Given the description of an element on the screen output the (x, y) to click on. 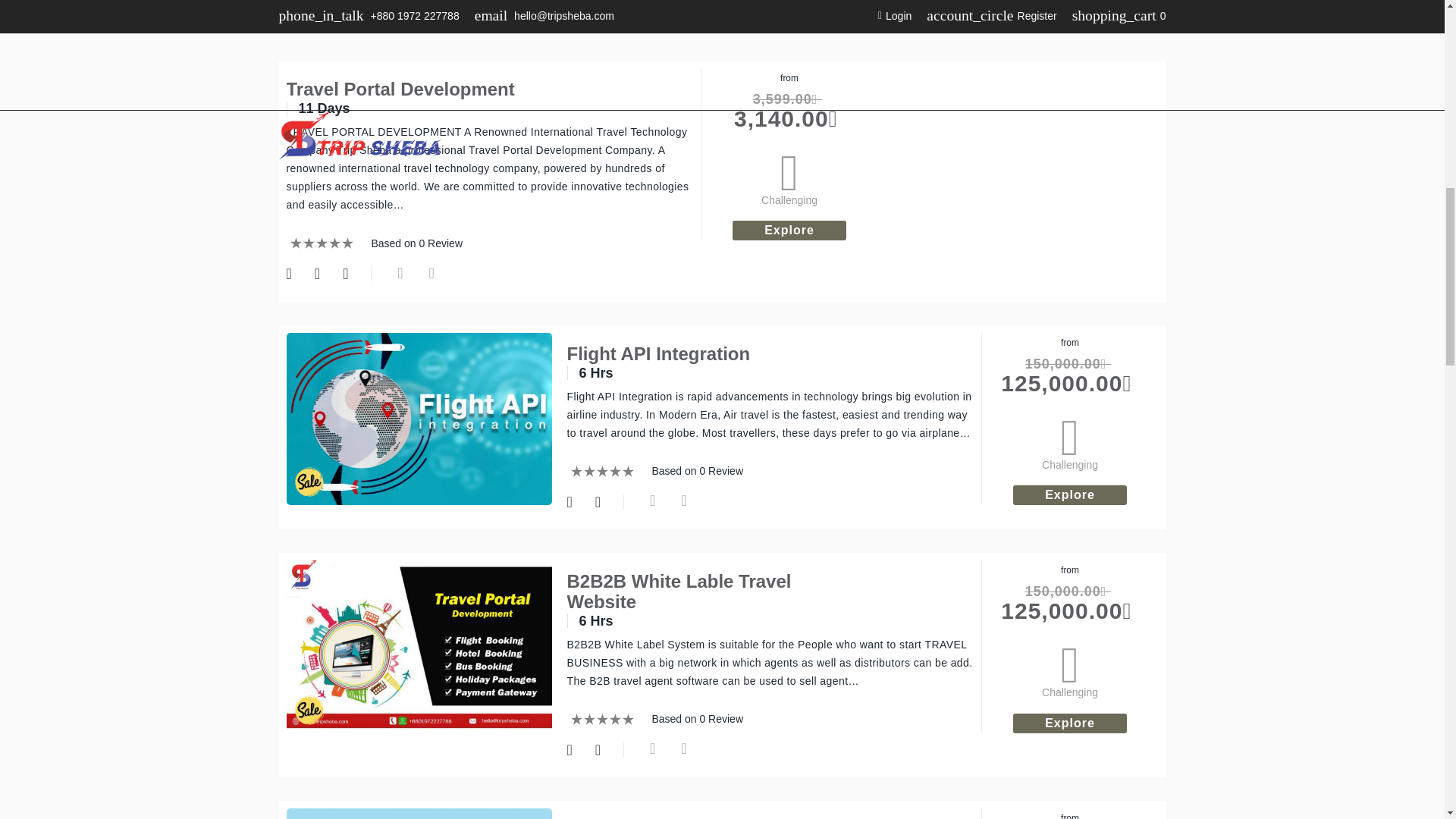
Travel Portal Development (400, 88)
